Given the description of an element on the screen output the (x, y) to click on. 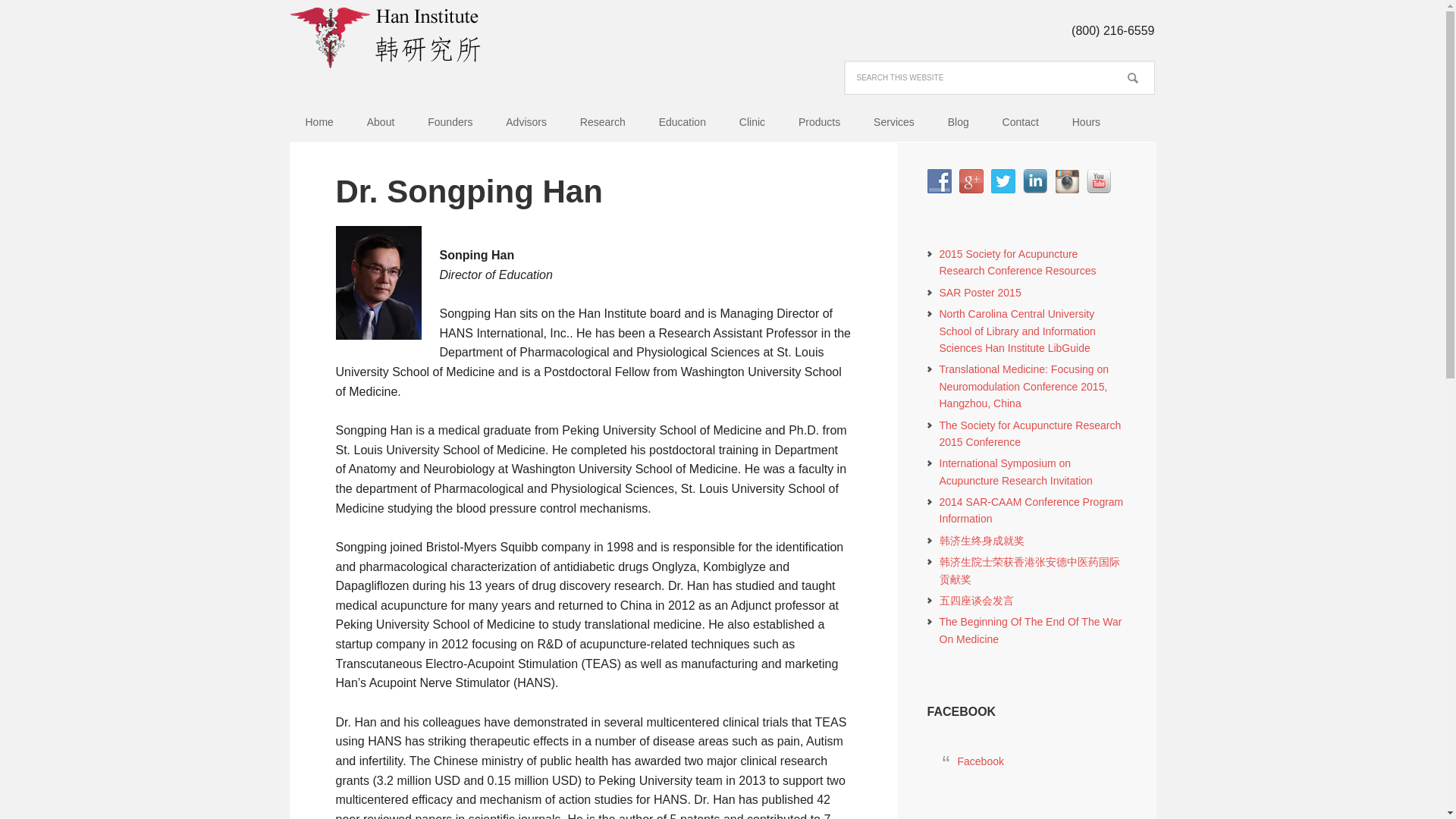
Research (602, 122)
Clinic (751, 122)
Home (318, 122)
Products (819, 122)
Follow Us on Instagram (1066, 180)
Education (681, 122)
Services (894, 122)
Follow Us on YouTube (1097, 180)
About (381, 122)
Advisors (526, 122)
Follow Us on LinkedIn (1034, 180)
Hours (1086, 122)
